Given the description of an element on the screen output the (x, y) to click on. 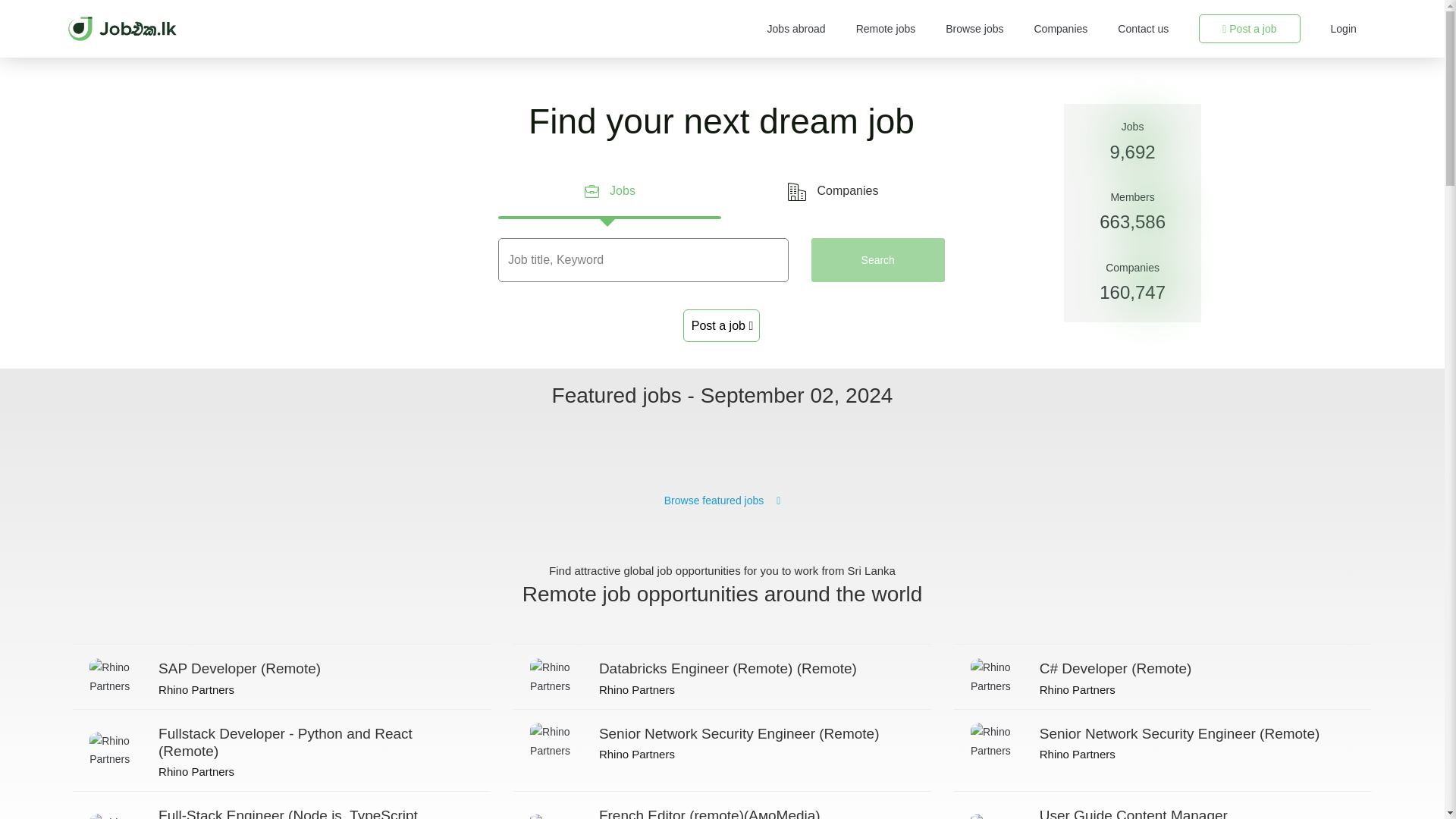
Remote jobs (885, 28)
Login (1343, 28)
Contact us (1143, 28)
Companies (833, 191)
Search (877, 259)
Jobs abroad (796, 28)
Companies (1060, 28)
Browse jobs (973, 28)
Browse featured jobs (722, 500)
Post a job (1249, 28)
